Given the description of an element on the screen output the (x, y) to click on. 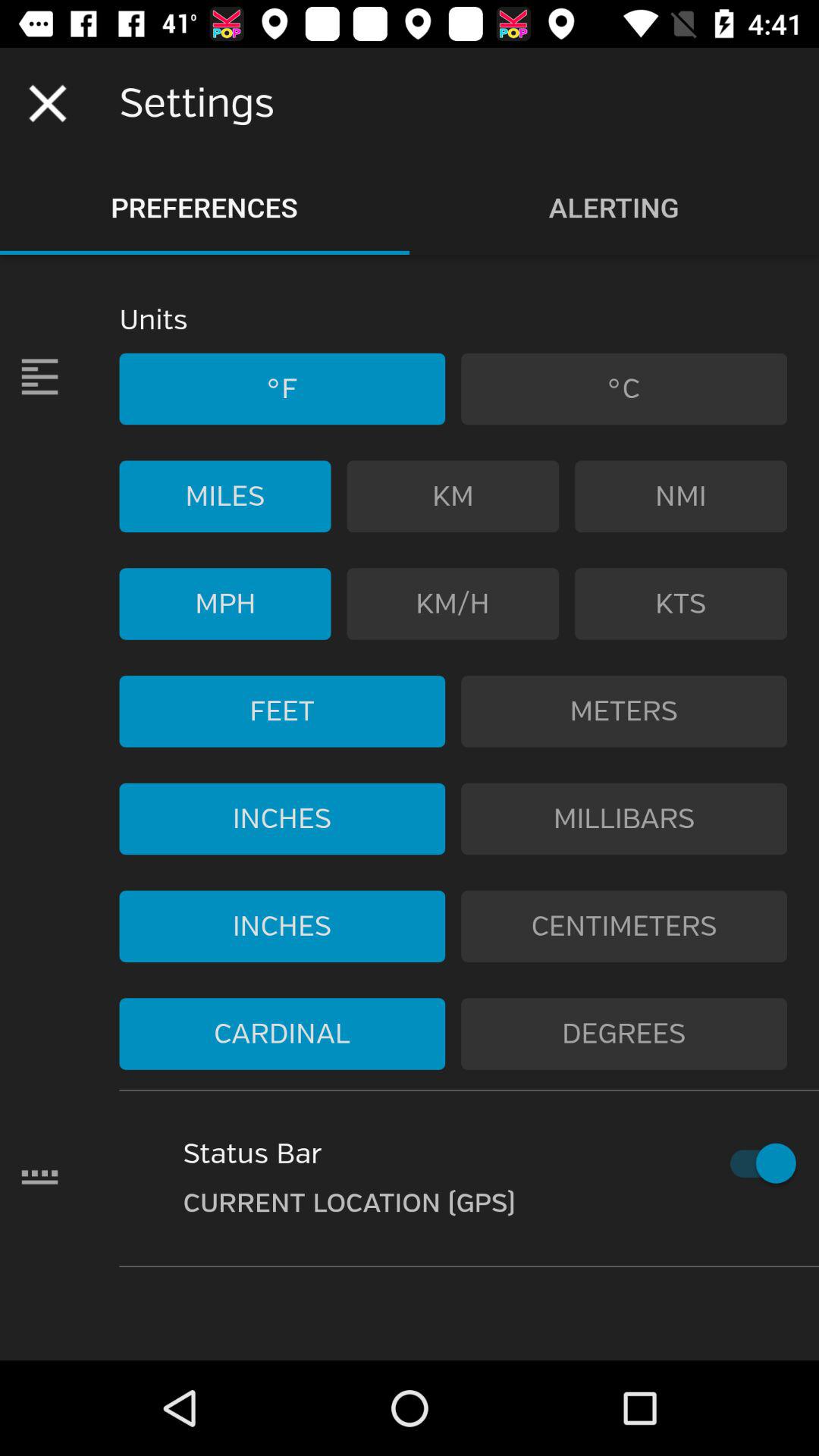
scroll to the meters (624, 711)
